Given the description of an element on the screen output the (x, y) to click on. 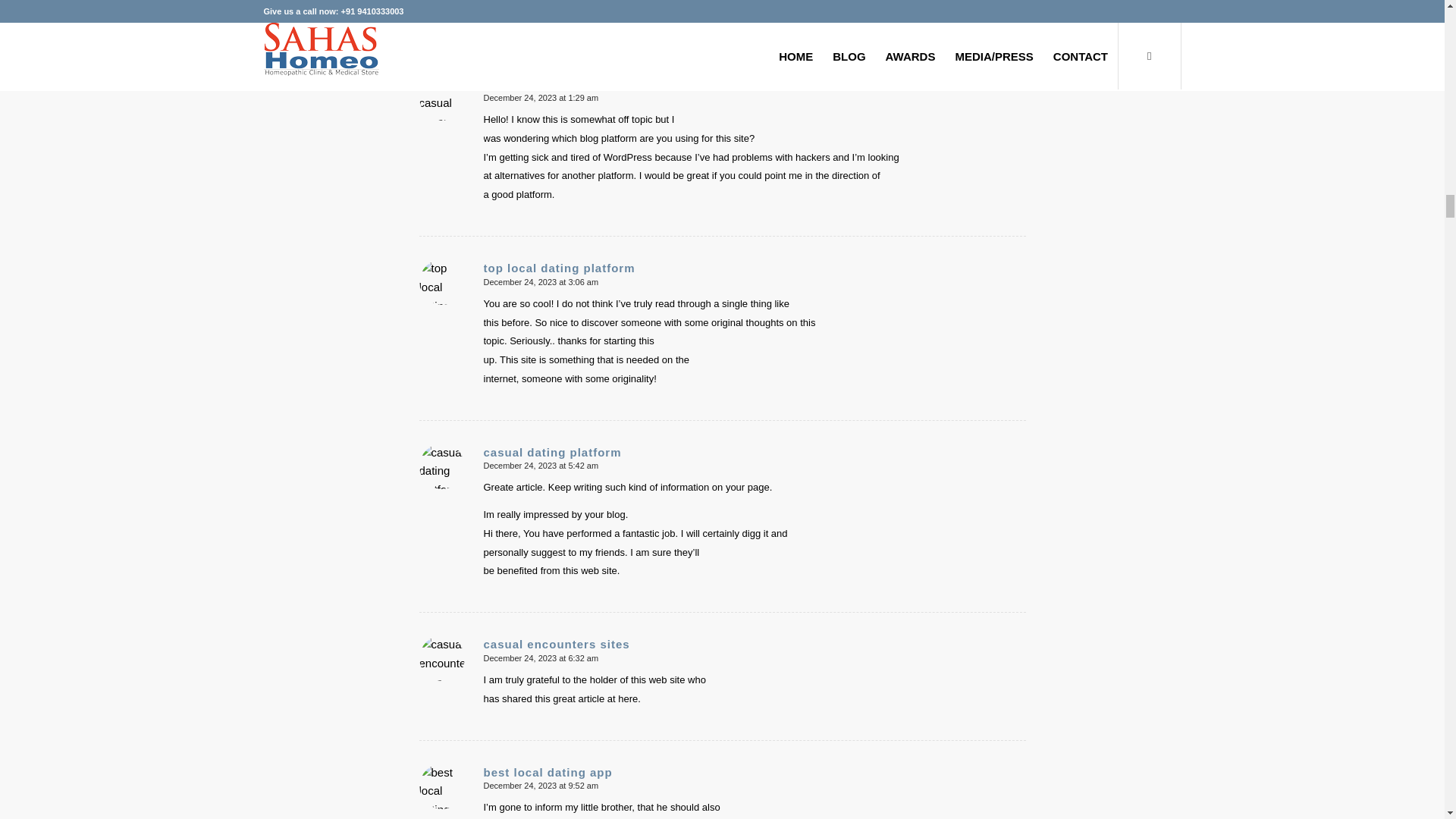
December 24, 2023 at 5:42 am (540, 465)
casual dating platform (552, 451)
December 24, 2023 at 1:29 am (540, 97)
online casual encounters platforms (592, 83)
December 24, 2023 at 3:06 am (540, 281)
top local dating platform (558, 267)
